Given the description of an element on the screen output the (x, y) to click on. 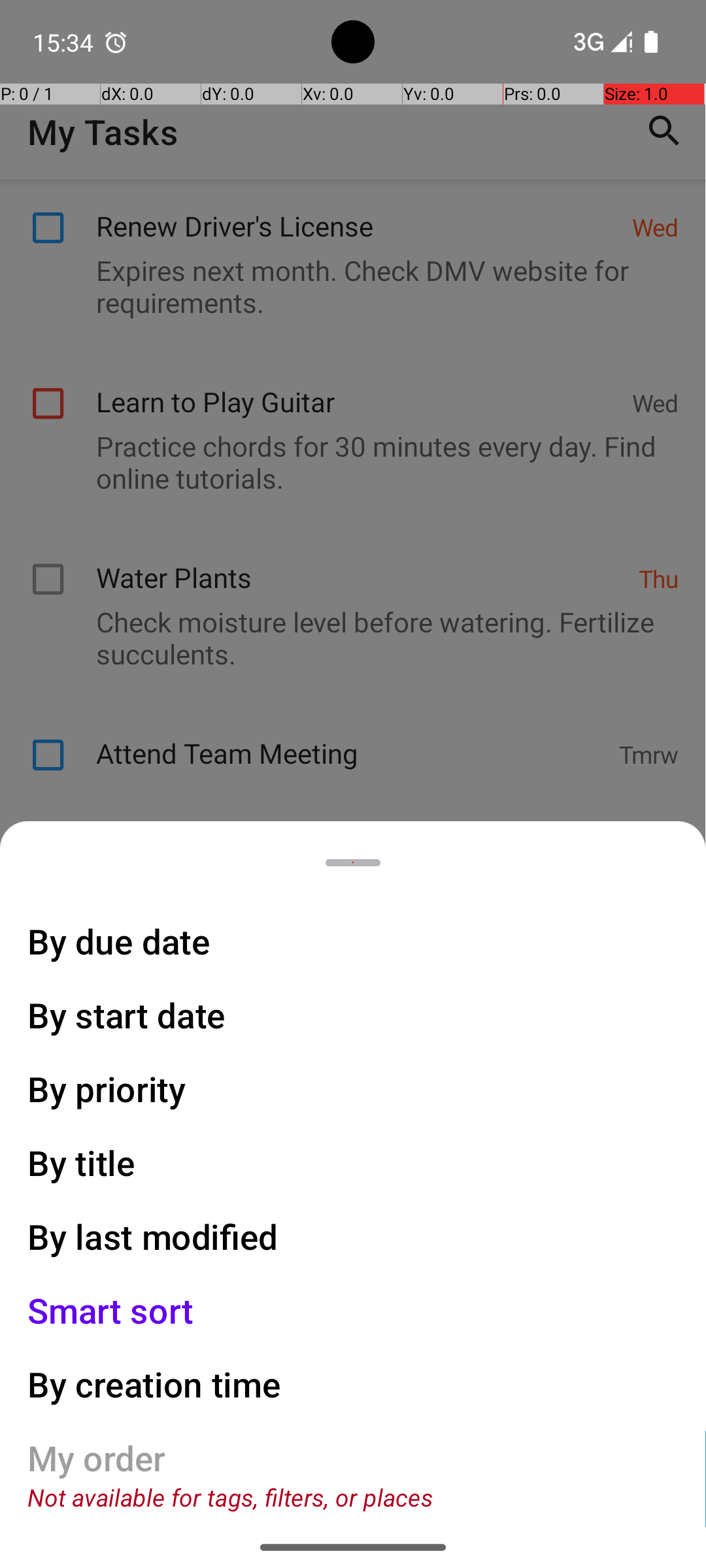
By last modified Element type: android.widget.TextView (152, 1236)
By creation time Element type: android.widget.TextView (154, 1383)
My order Element type: android.widget.TextView (96, 1457)
Not available for tags, filters, or places Element type: android.widget.TextView (230, 1497)
